Given the description of an element on the screen output the (x, y) to click on. 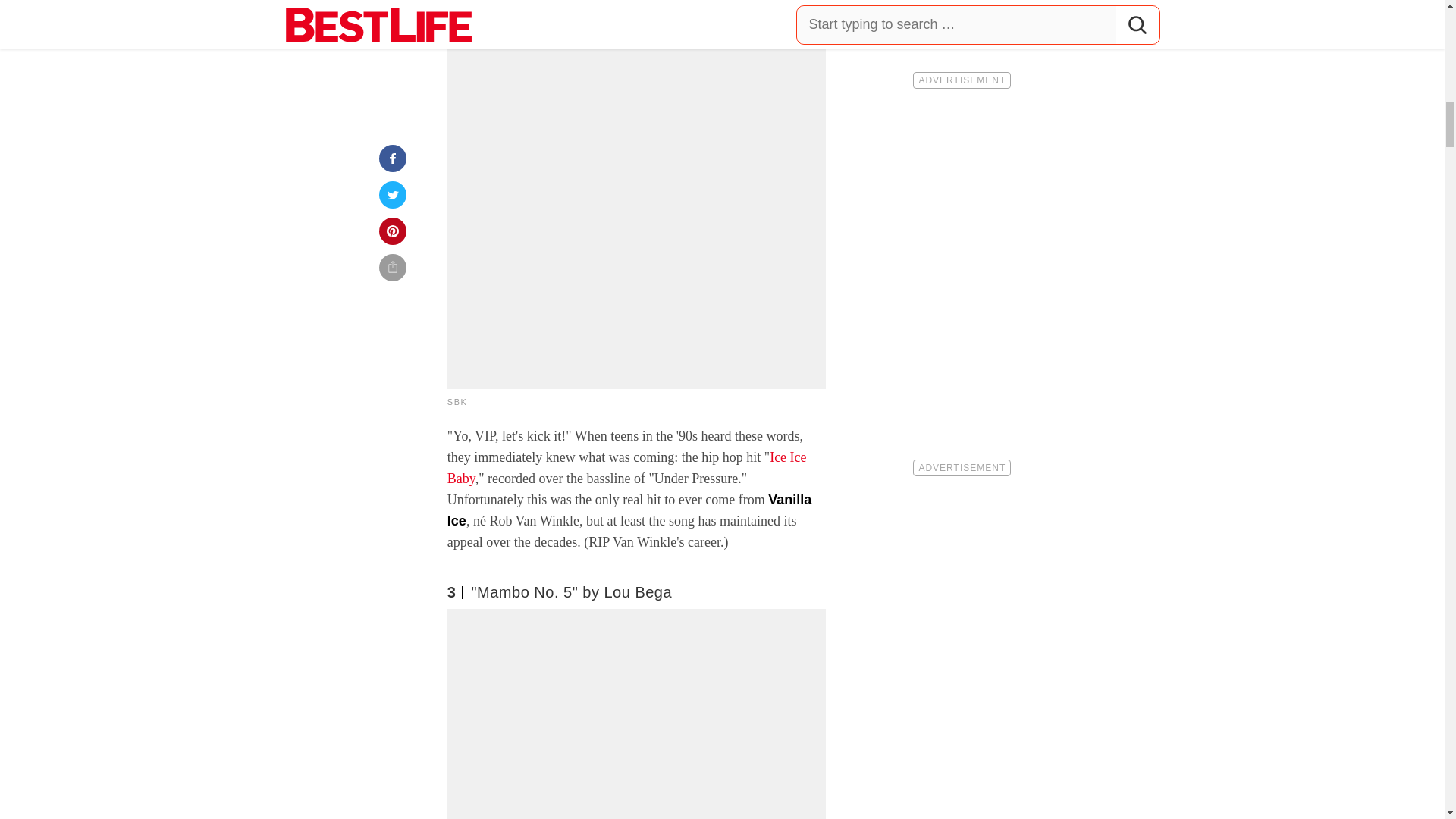
Ice Ice Baby (626, 467)
